Given the description of an element on the screen output the (x, y) to click on. 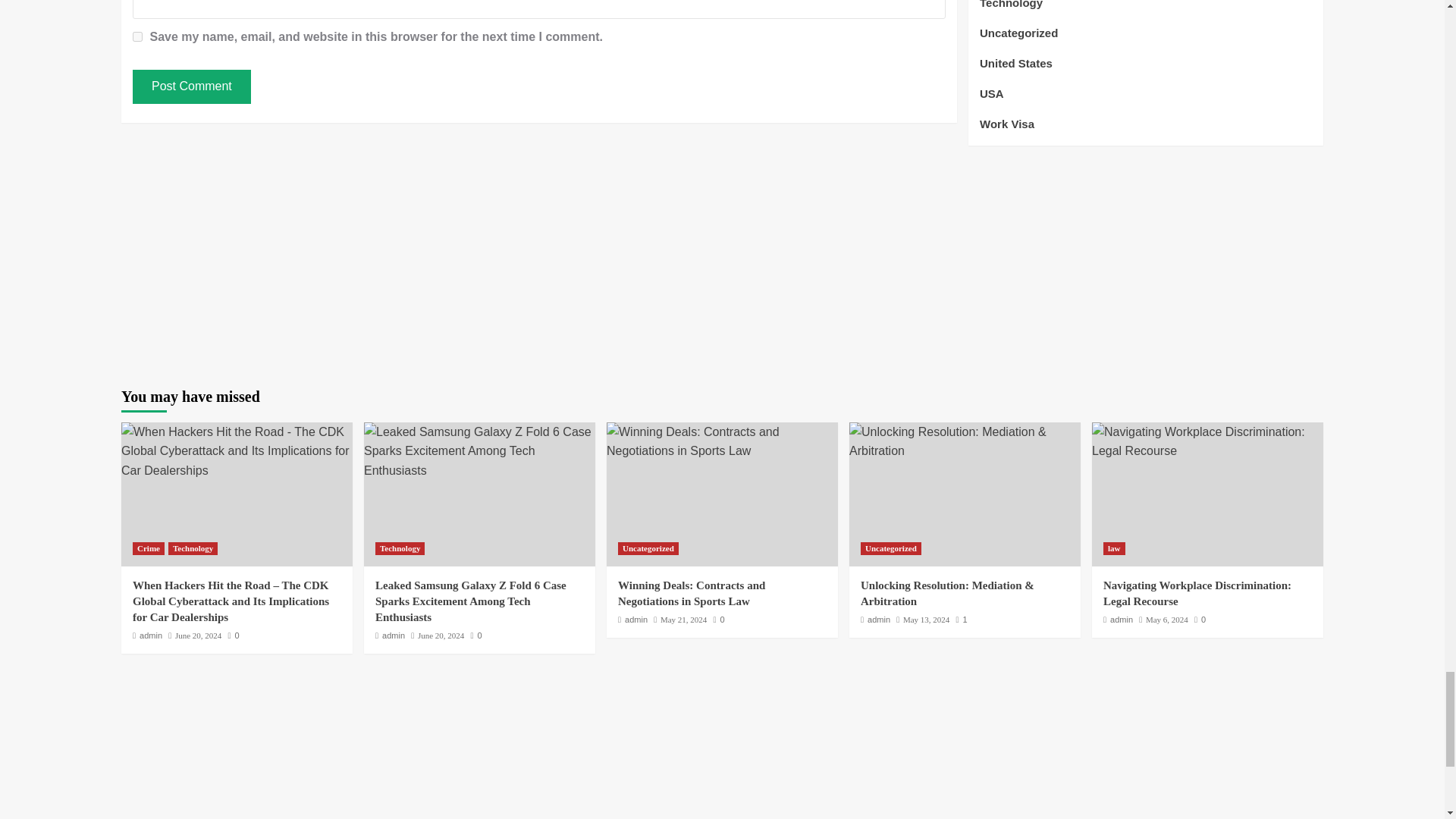
yes (137, 36)
Post Comment (191, 86)
